Given the description of an element on the screen output the (x, y) to click on. 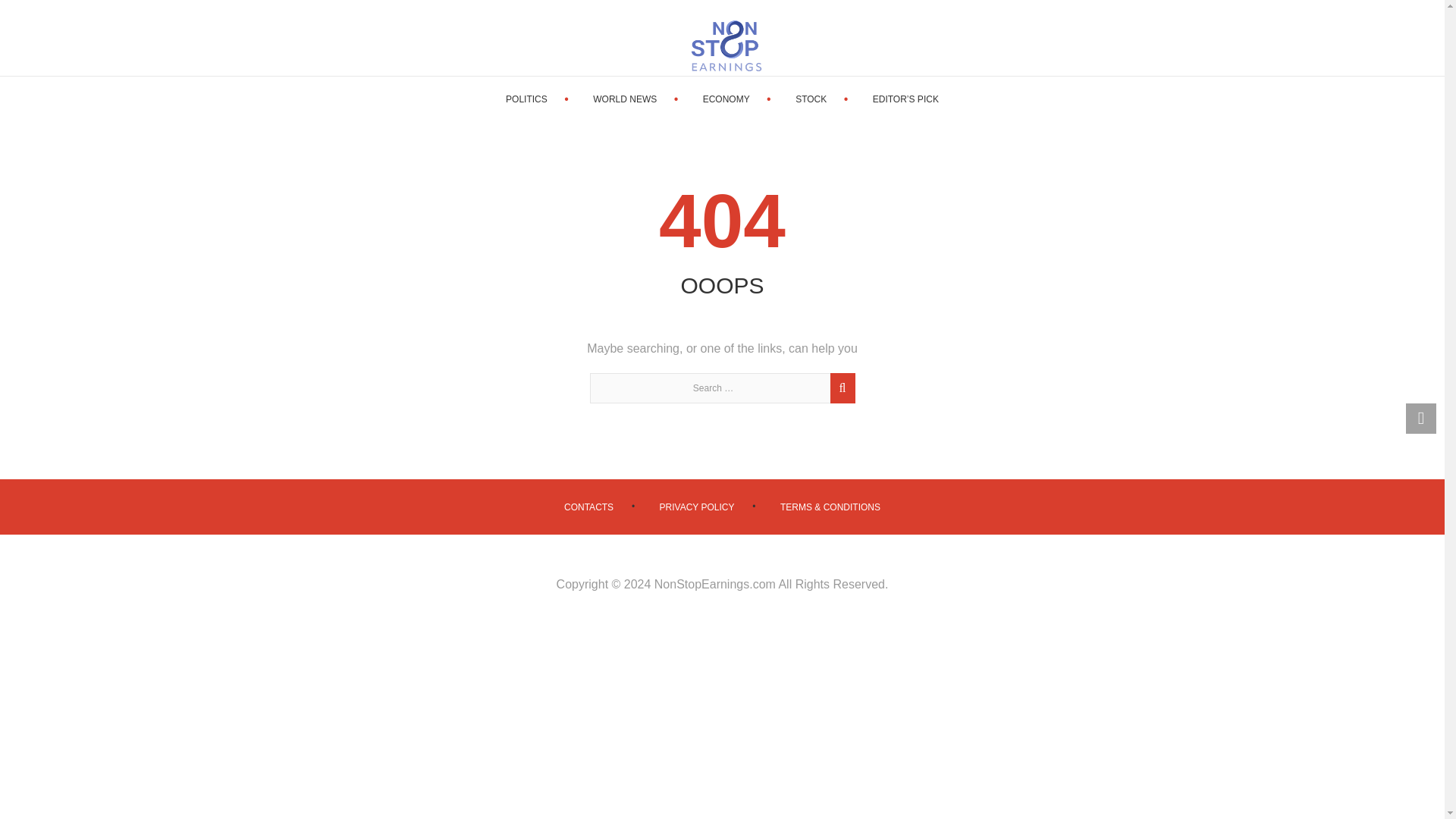
Search (840, 395)
Editor's Pick (905, 98)
STOCK (810, 98)
Politics (526, 98)
Stock (810, 98)
Search (840, 395)
Search (840, 395)
WORLD NEWS (624, 98)
PRIVACY POLICY (697, 507)
POLITICS (526, 98)
